Given the description of an element on the screen output the (x, y) to click on. 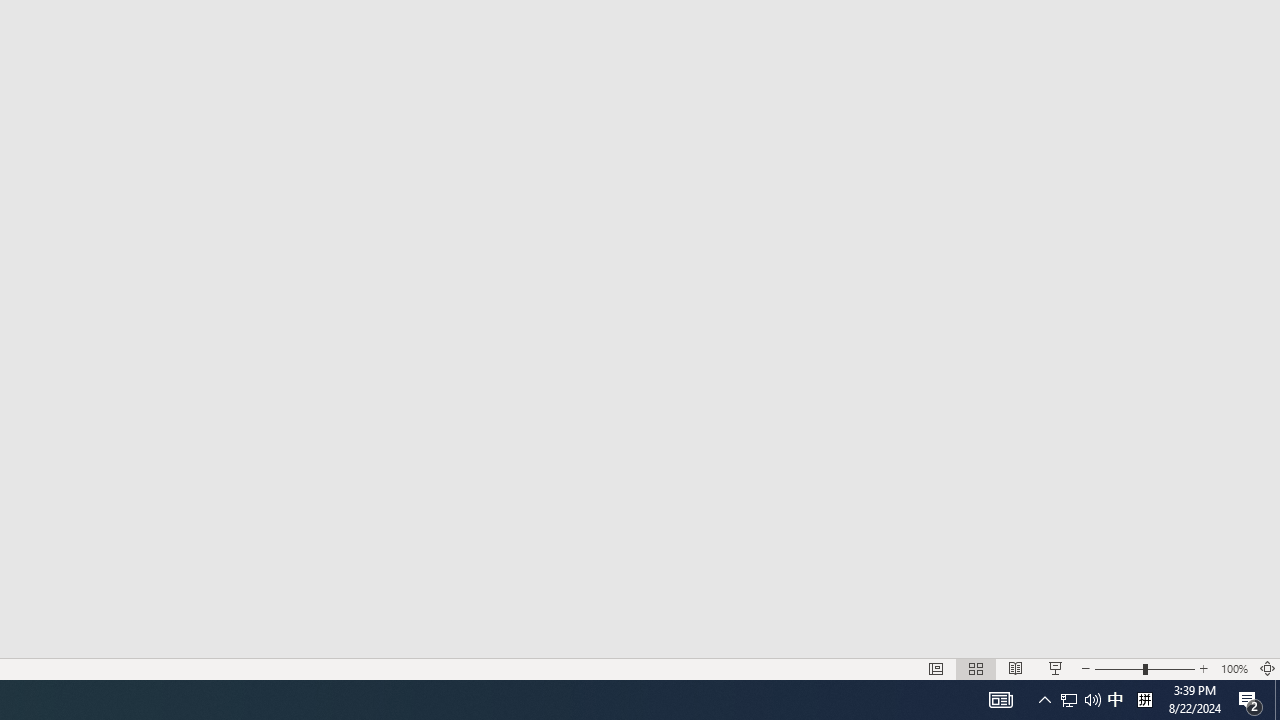
Zoom 100% (1234, 668)
